Given the description of an element on the screen output the (x, y) to click on. 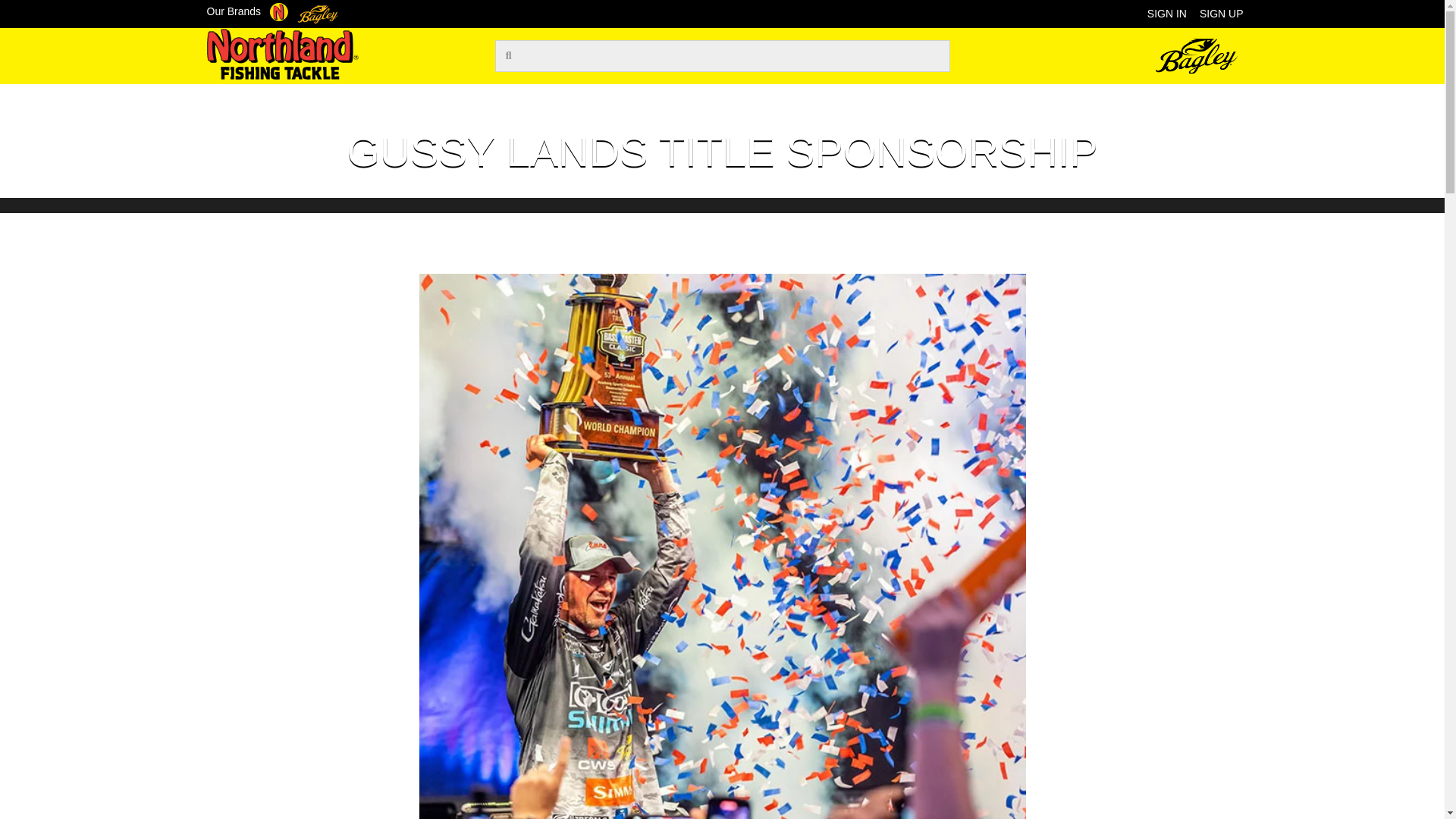
Elite Bass Lures (475, 98)
Bagley Bait Co. (317, 12)
Open Water (577, 98)
New (342, 98)
Search (733, 55)
bagley-logo-black (1196, 56)
SIGN IN (1167, 13)
Northland Fishing Tackle (278, 10)
SIGN UP (1221, 13)
